Given the description of an element on the screen output the (x, y) to click on. 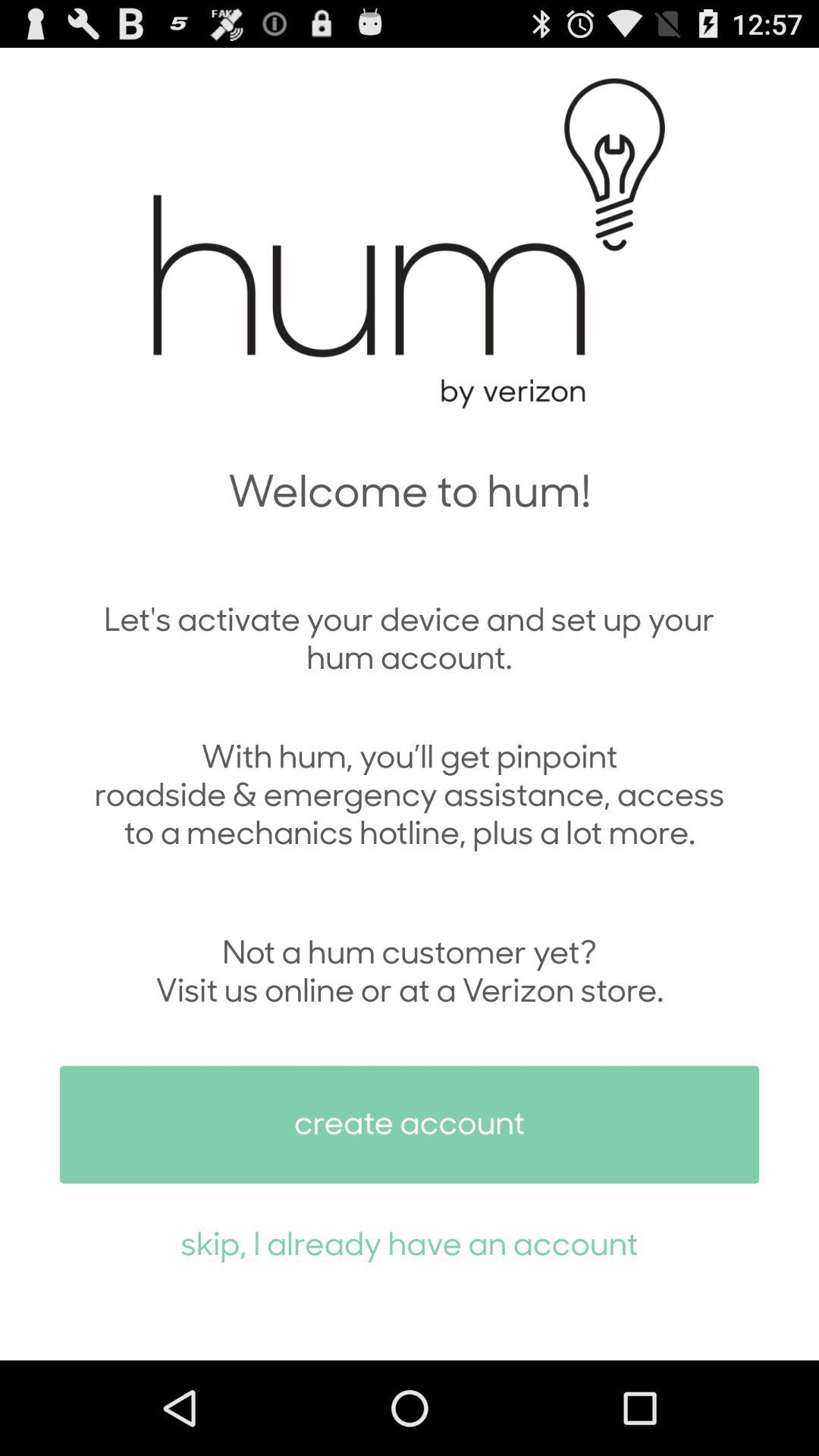
tap the create account (409, 1124)
